Given the description of an element on the screen output the (x, y) to click on. 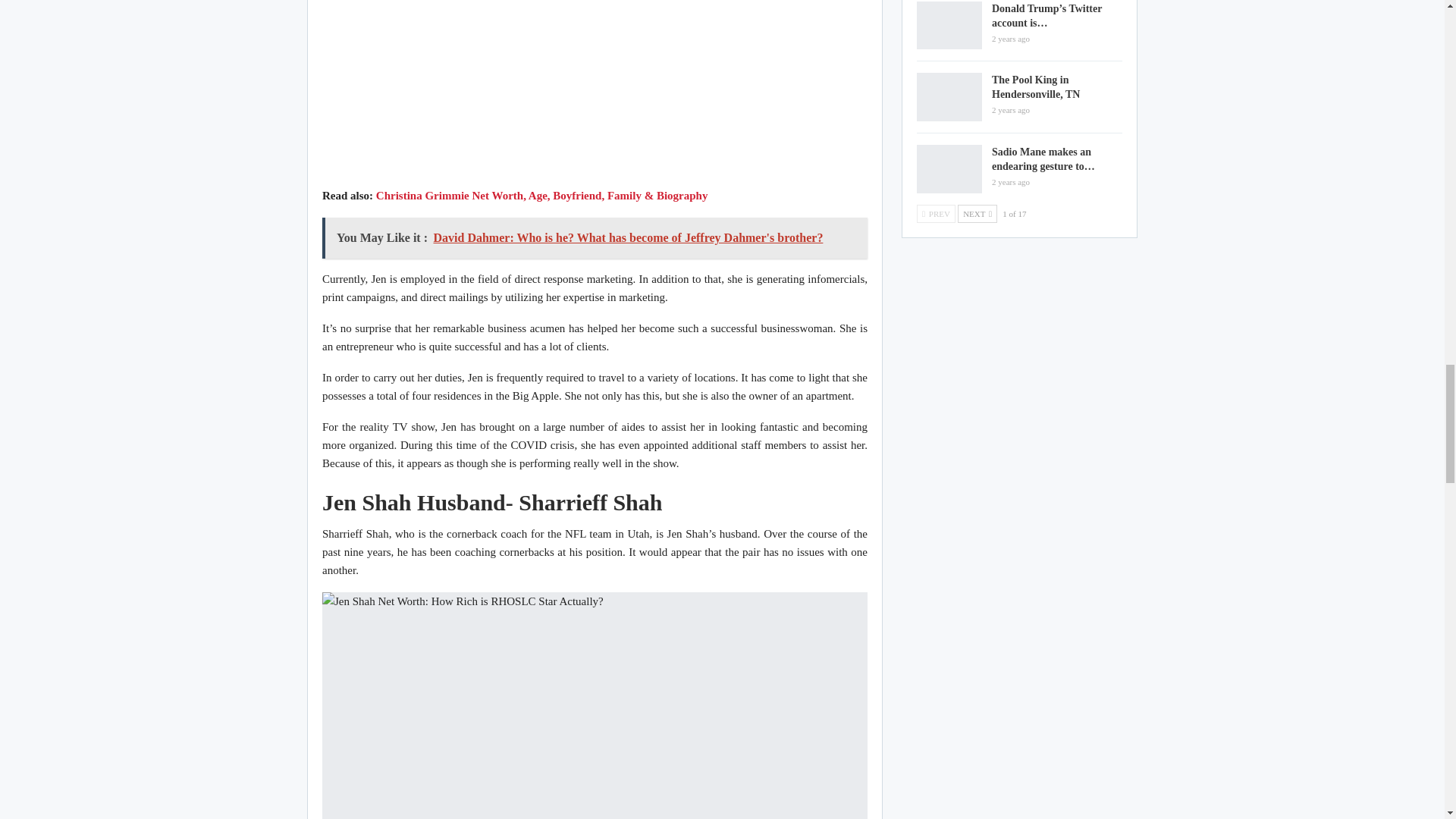
'RHOSLC': Jen Shah Calls A Castmate's Actions 'Ungodlike' (594, 90)
